Given the description of an element on the screen output the (x, y) to click on. 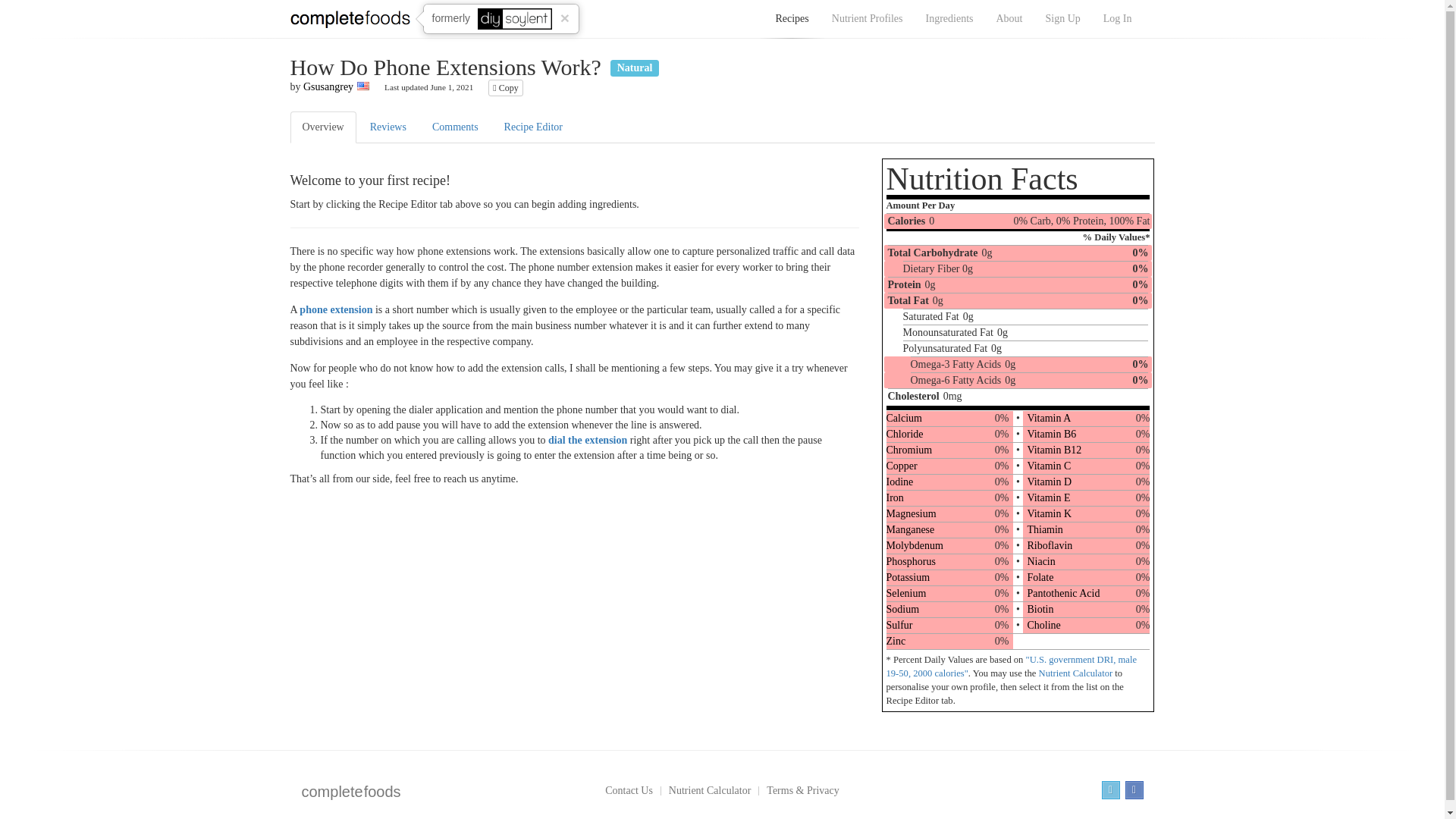
Copy (504, 87)
Recipes (790, 19)
Comments (455, 127)
Log In (1117, 19)
Niacin (1040, 561)
Molybdenum (913, 545)
Sign Up (1061, 19)
Iron (893, 497)
Ingredients (949, 19)
Thiamin (1044, 529)
Vitamin D (1048, 481)
Vitamin E (1048, 497)
Reviews (388, 127)
Chloride (904, 433)
Vitamin A (1048, 418)
